Given the description of an element on the screen output the (x, y) to click on. 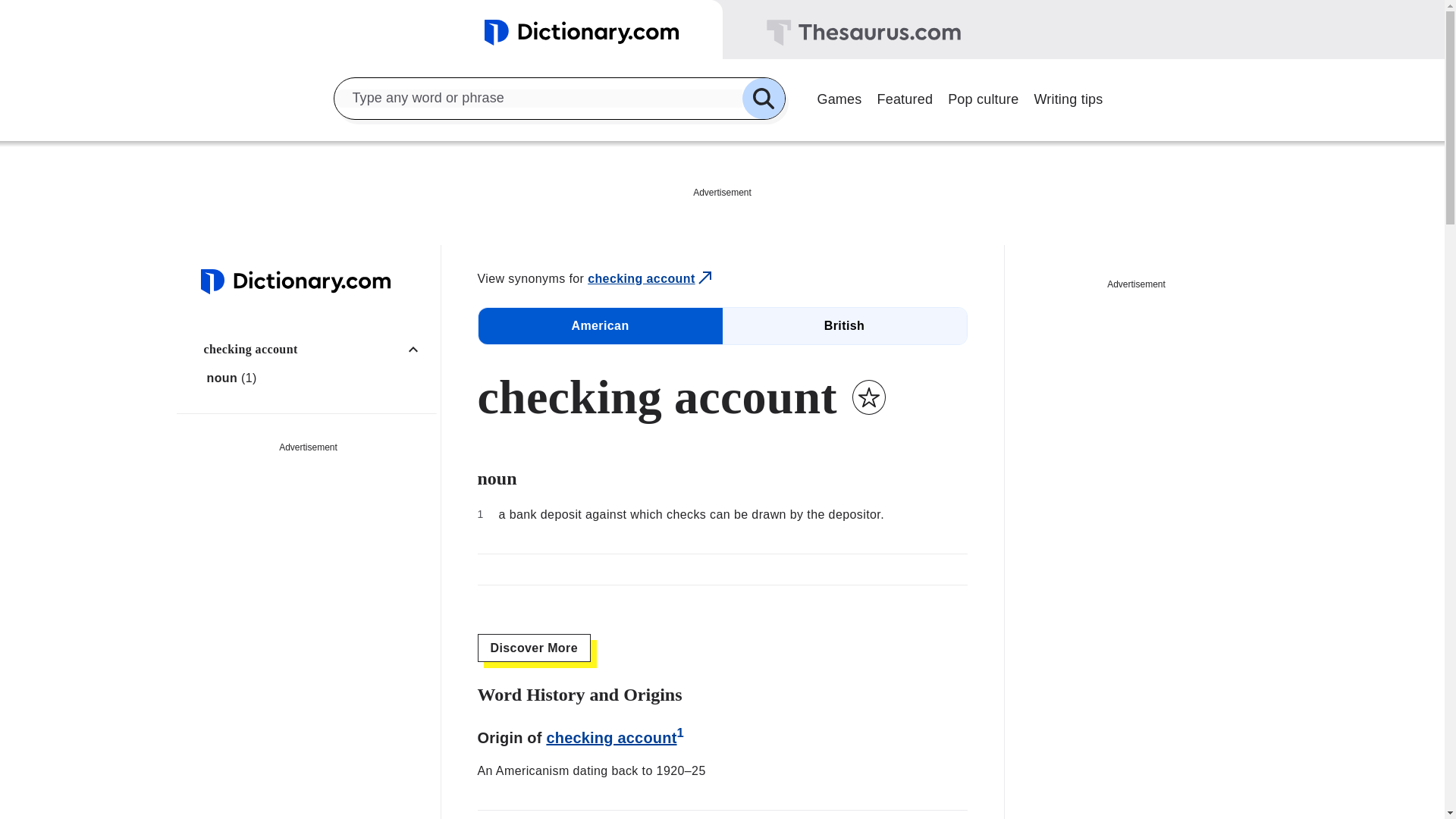
checking account1 (615, 737)
Games (839, 97)
British (844, 325)
checking account (316, 349)
Featured (904, 97)
Writing tips (1067, 97)
Pop culture (983, 97)
checking account (651, 279)
American (599, 325)
